Given the description of an element on the screen output the (x, y) to click on. 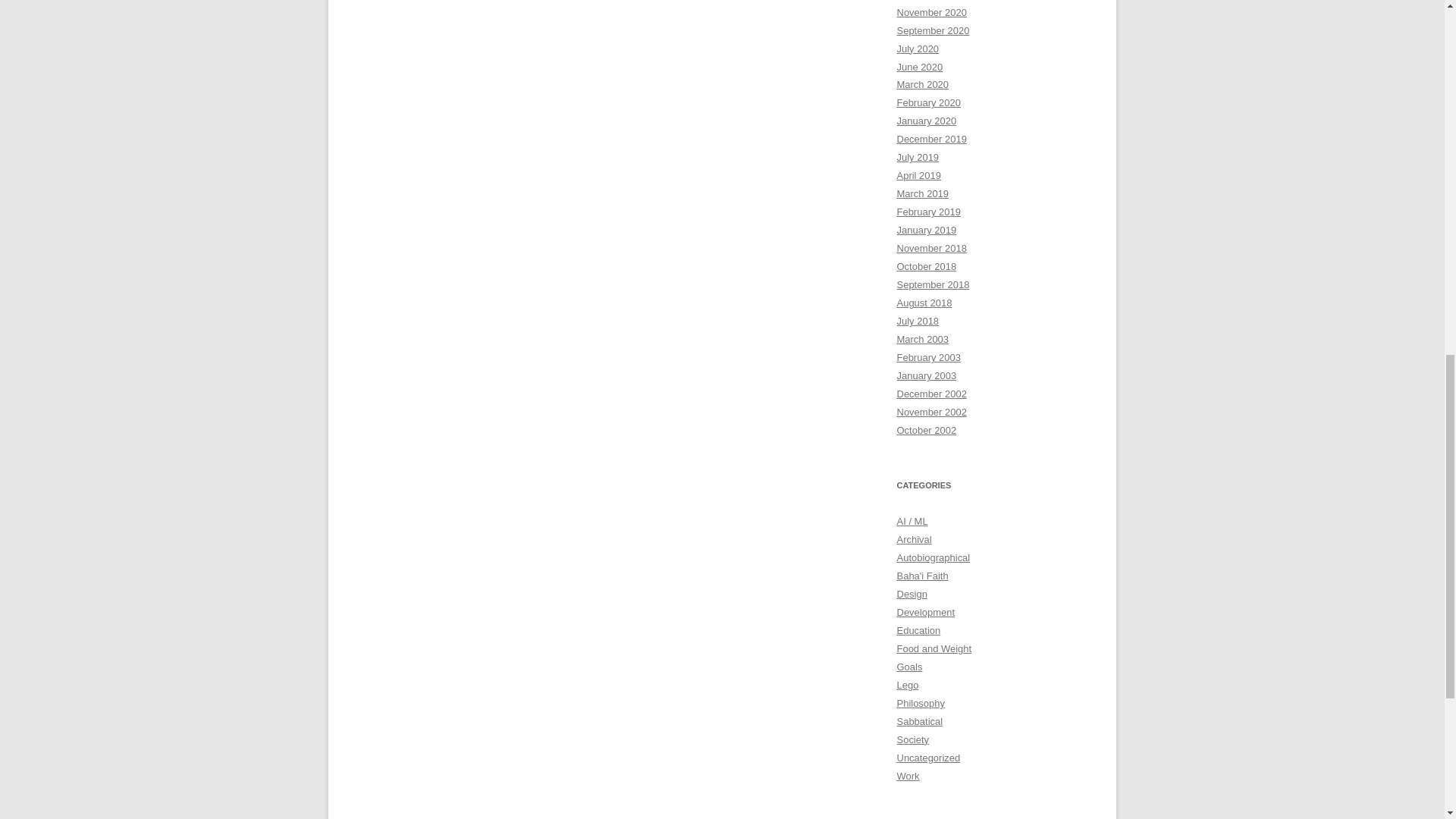
November 2020 (931, 12)
September 2020 (932, 30)
